Given the description of an element on the screen output the (x, y) to click on. 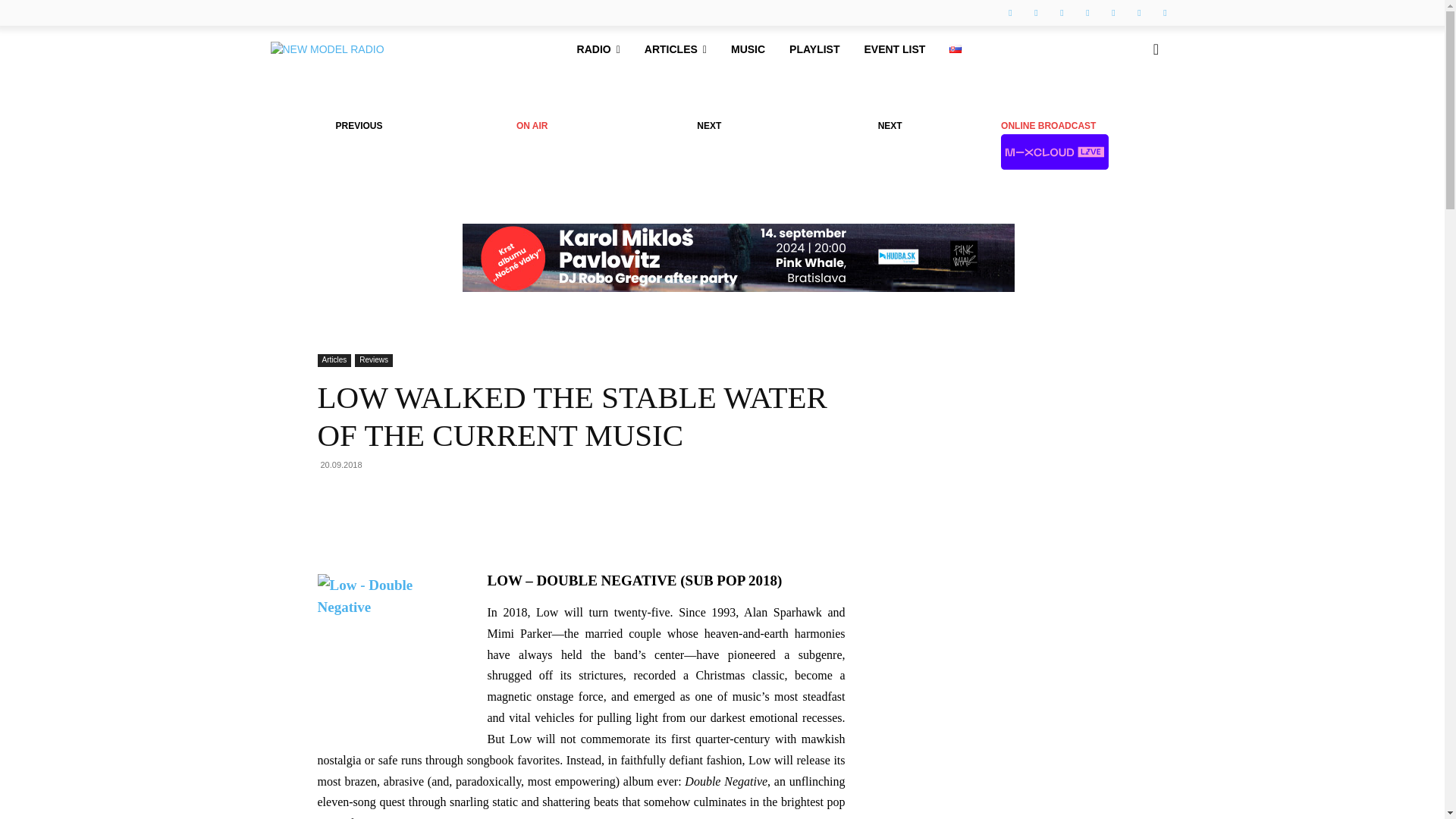
Facebook (1010, 13)
Instagram (1035, 13)
Digital broadcasting and music magazine (326, 48)
RADIO (597, 48)
Mixcloud (1164, 13)
Patreon (1087, 13)
Twitter (1138, 13)
Spotify (1112, 13)
Mail (1061, 13)
